Given the description of an element on the screen output the (x, y) to click on. 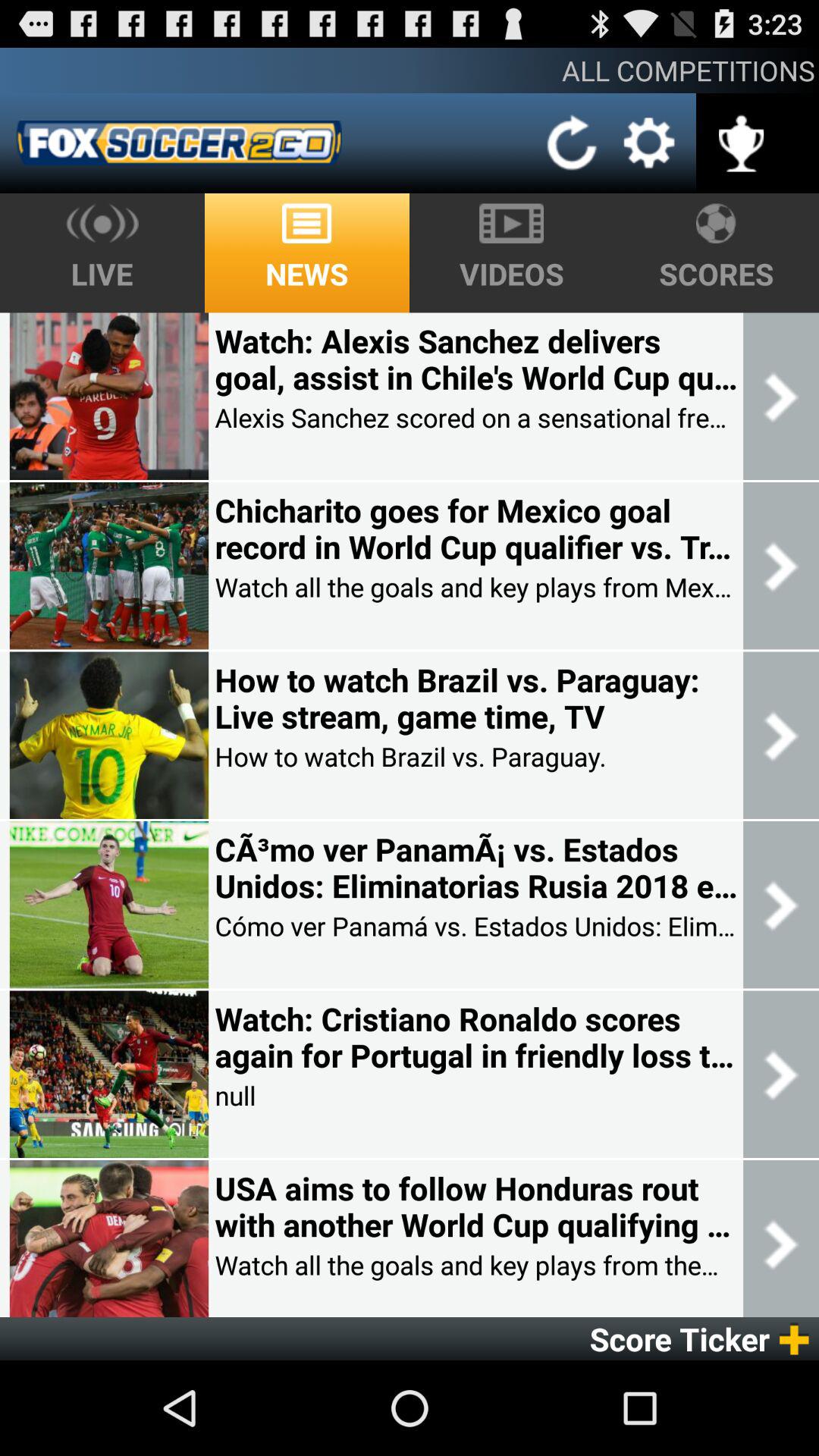
click the chicharito goes for (475, 528)
